Given the description of an element on the screen output the (x, y) to click on. 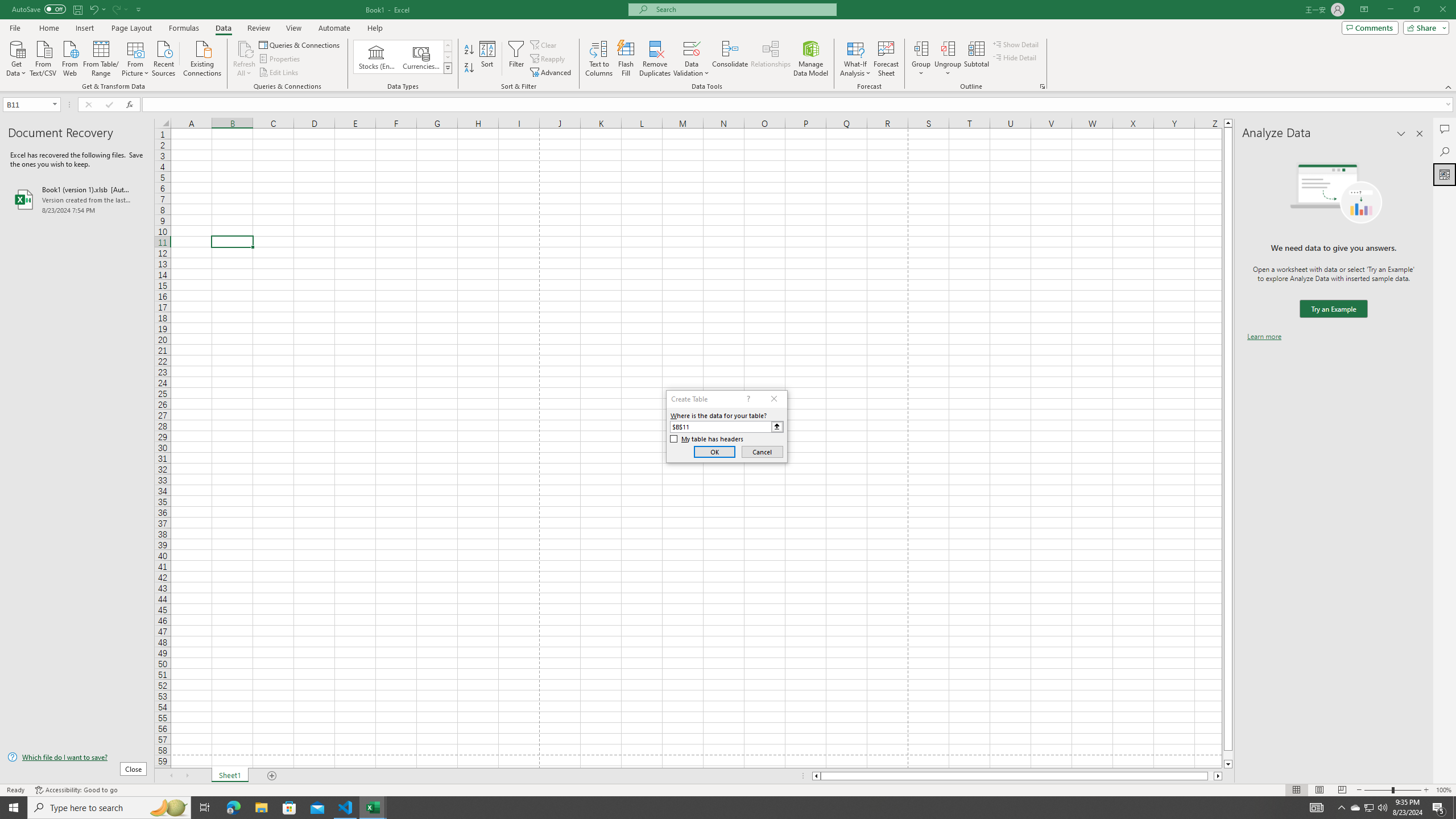
Edit Links (279, 72)
Get Data (16, 57)
Remove Duplicates (654, 58)
Advanced... (551, 72)
